Given the description of an element on the screen output the (x, y) to click on. 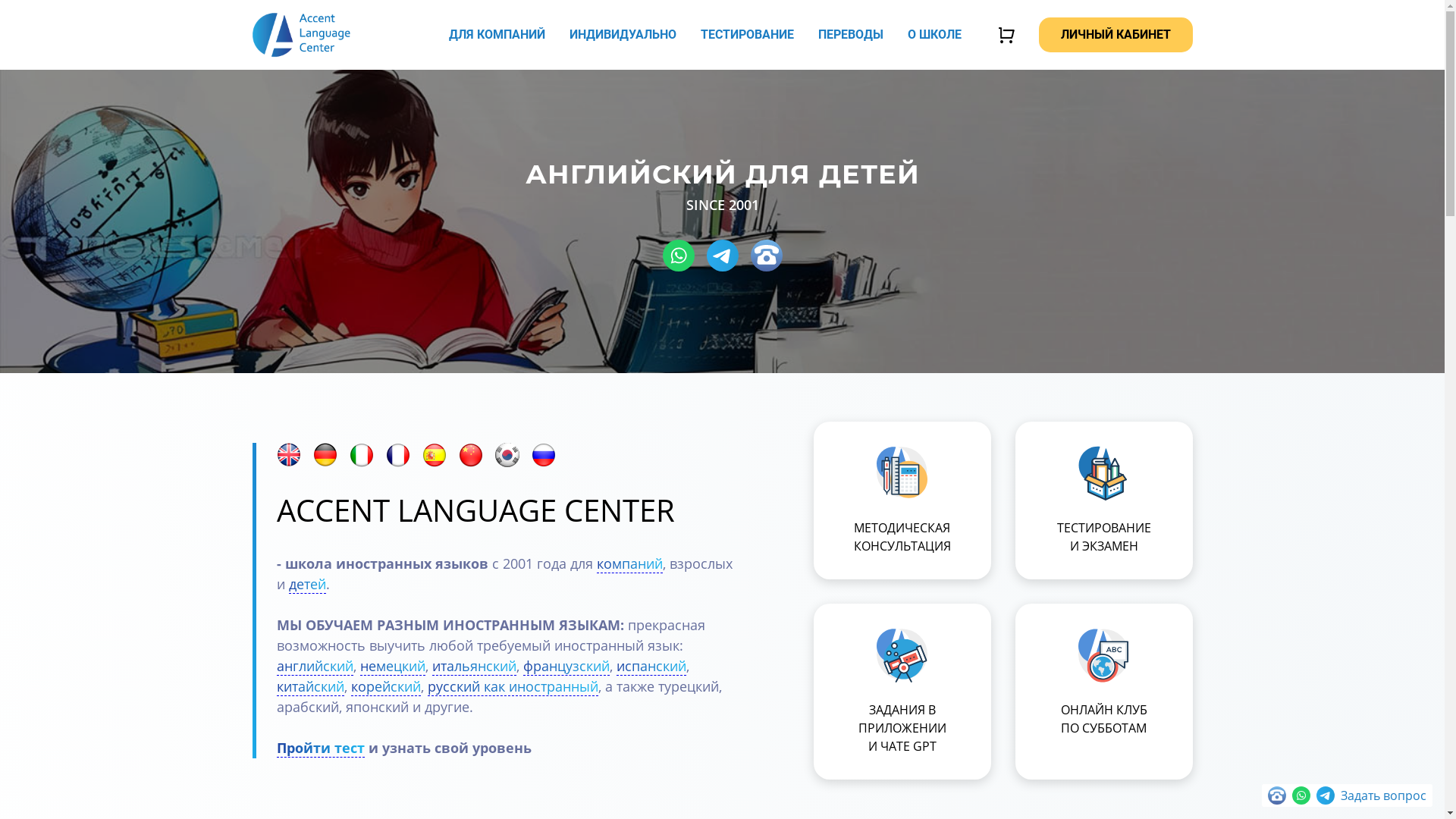
Accent Center Element type: hover (300, 34)
